Given the description of an element on the screen output the (x, y) to click on. 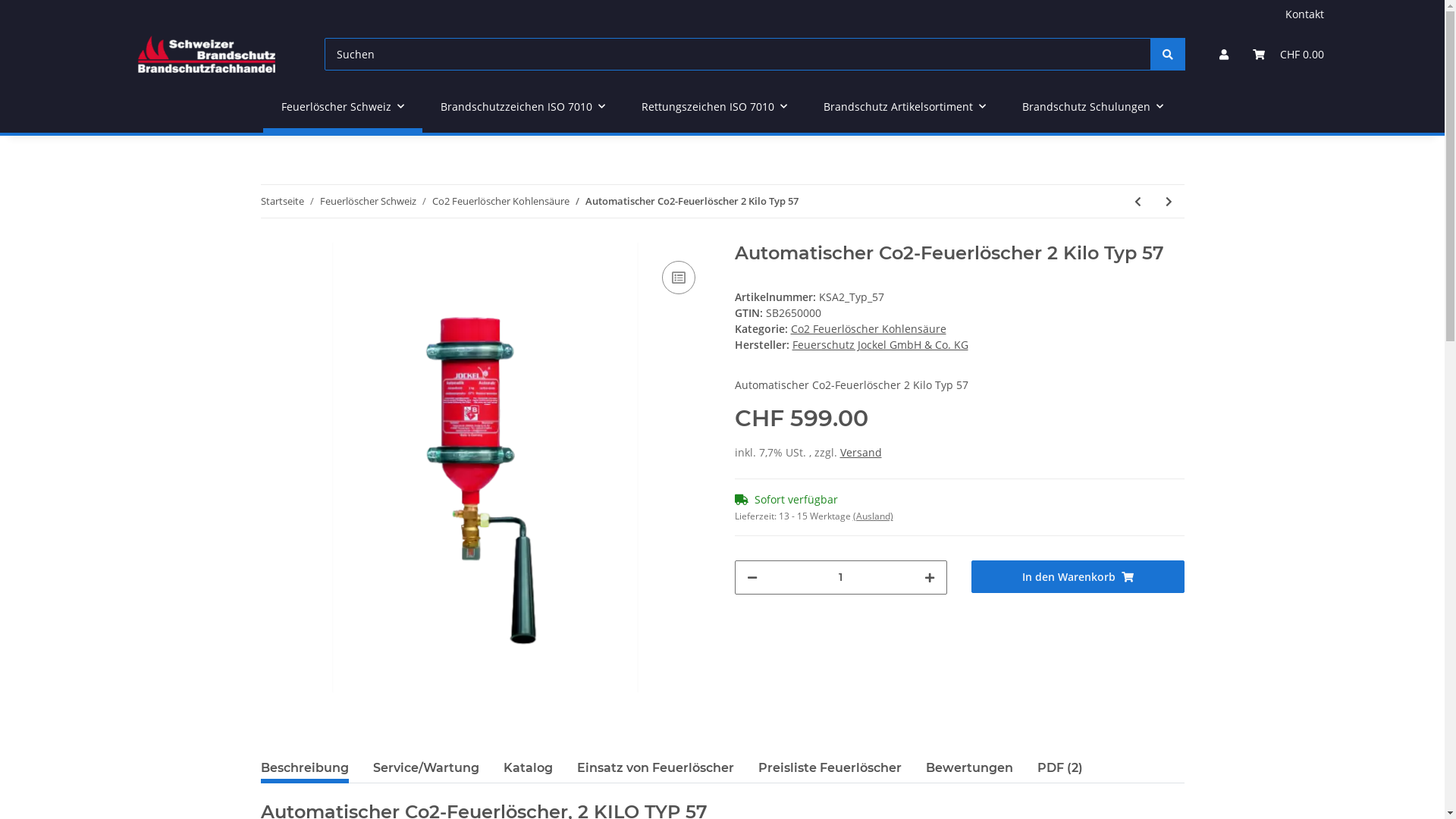
Beschreibung Element type: text (304, 768)
PDF (2) Element type: text (1059, 768)
CHF 0.00 Element type: text (1288, 54)
Startseite Element type: text (282, 201)
Versand Element type: text (860, 452)
Kontakt Element type: text (1303, 14)
Service/Wartung Element type: text (426, 768)
Feuerschutz Jockel GmbH & Co. KG Element type: text (879, 344)
Brandschutzzeichen Element type: hover (207, 53)
Brandschutz Artikelsortiment Element type: text (904, 106)
Katalog Element type: text (527, 768)
Rettungszeichen ISO 7010 Element type: text (714, 106)
Brandschutz Schulungen Element type: text (1092, 106)
In den Warenkorb Element type: text (1077, 576)
Brandschutzzeichen ISO 7010 Element type: text (522, 106)
Bewertungen Element type: text (968, 768)
